Given the description of an element on the screen output the (x, y) to click on. 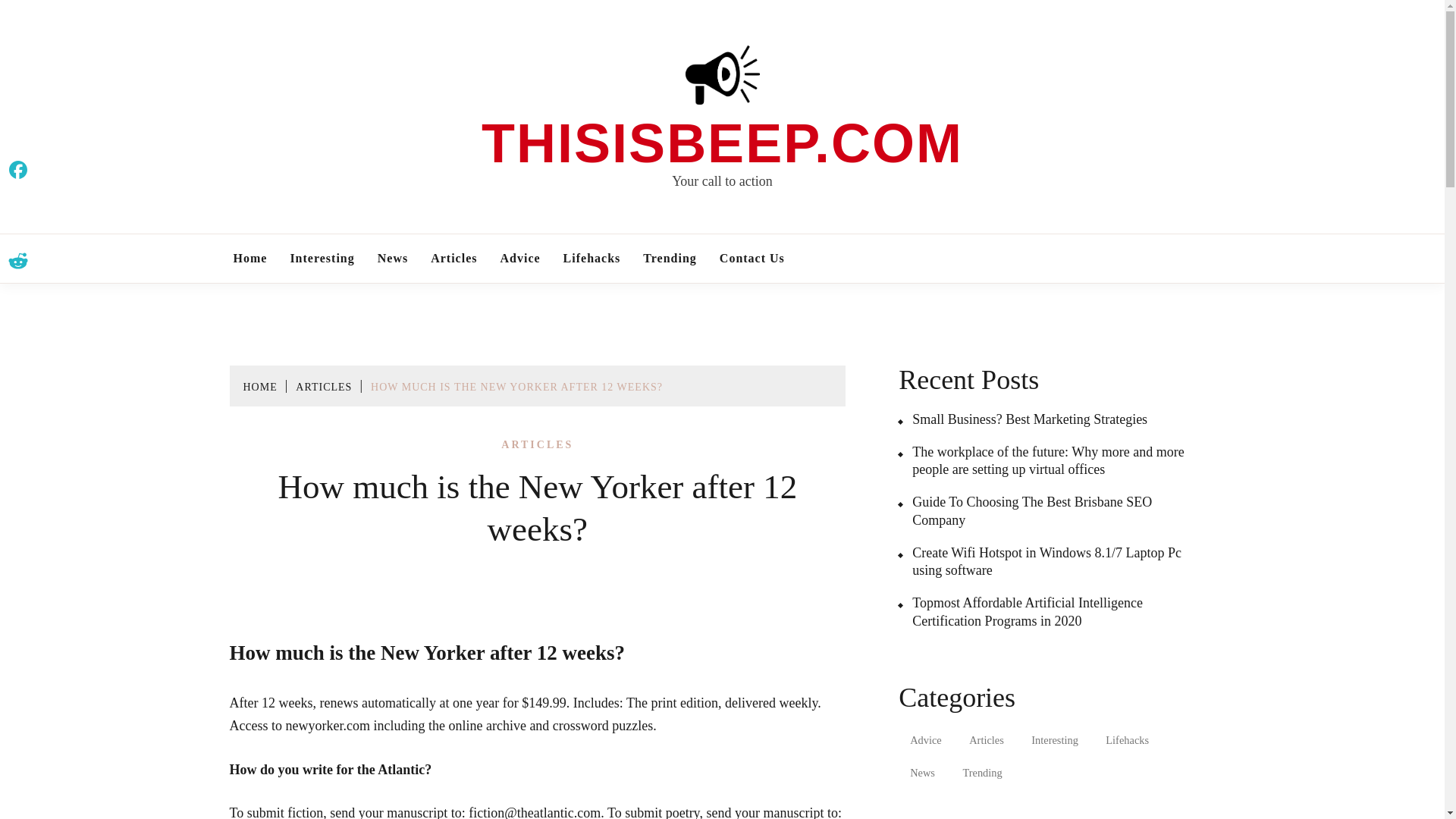
THISISBEEP.COM (721, 143)
News (922, 773)
Small Business? Best Marketing Strategies (1022, 419)
Advice (519, 258)
Guide To Choosing The Best Brisbane SEO Company (1050, 511)
Advice (925, 740)
Lifehacks (591, 258)
ARTICLES (323, 387)
Articles (453, 258)
